Given the description of an element on the screen output the (x, y) to click on. 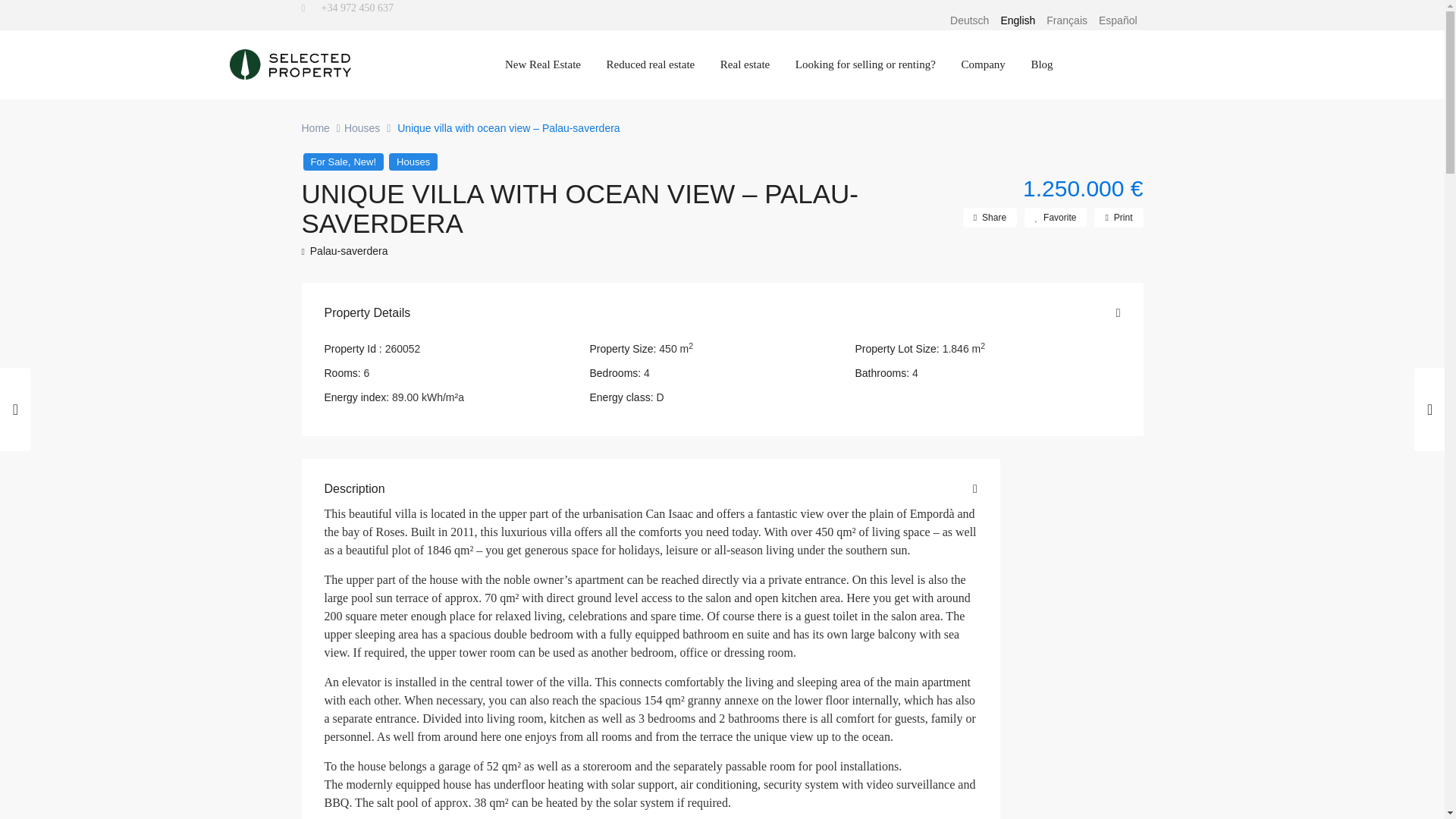
New Real Estate (542, 64)
Reduced real estate (650, 64)
Looking for selling or renting? (865, 64)
Real estate (744, 64)
Deutsch (969, 19)
Company (982, 64)
English (1017, 19)
